Given the description of an element on the screen output the (x, y) to click on. 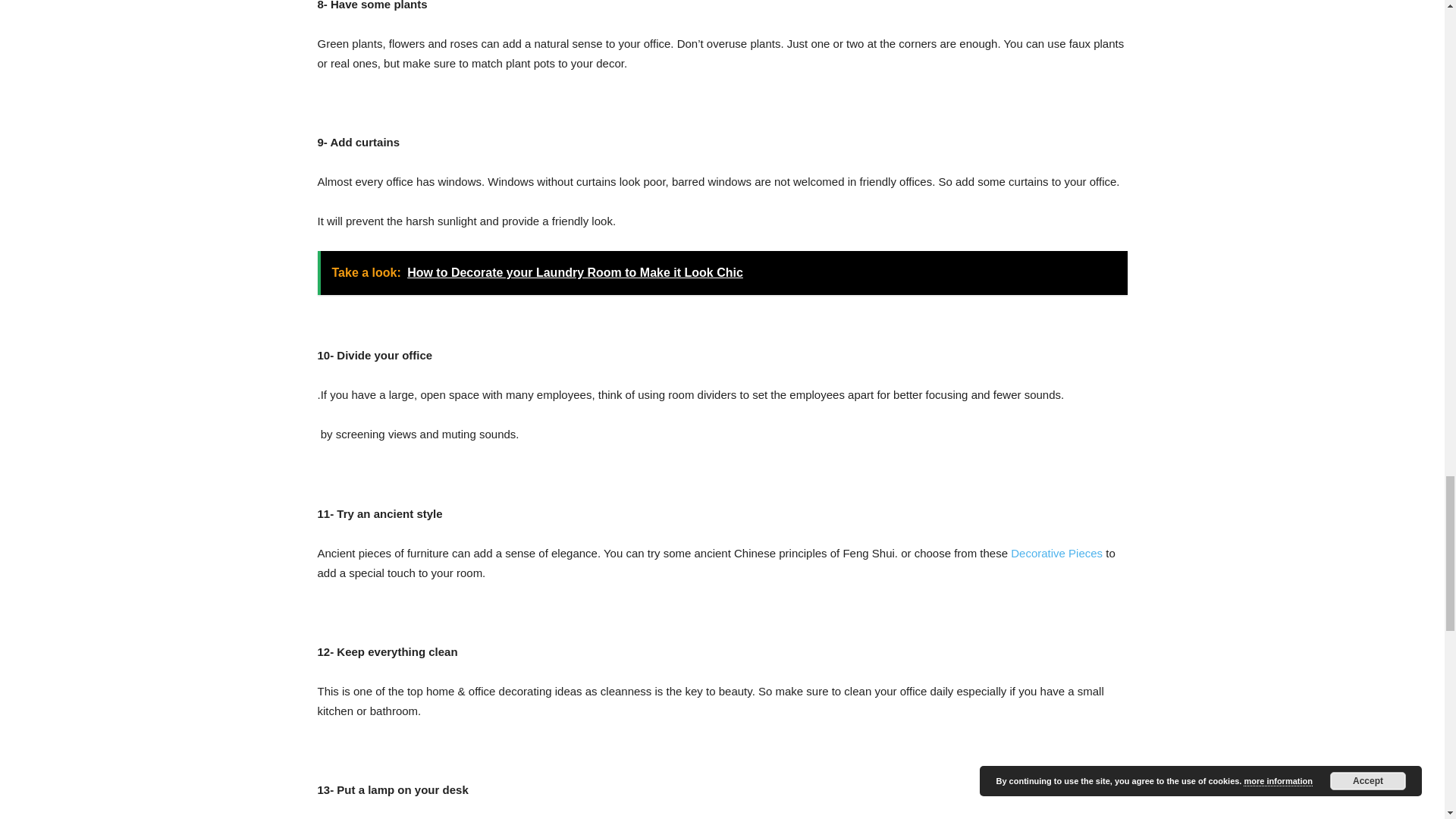
Decorative Pieces (1056, 553)
